Given the description of an element on the screen output the (x, y) to click on. 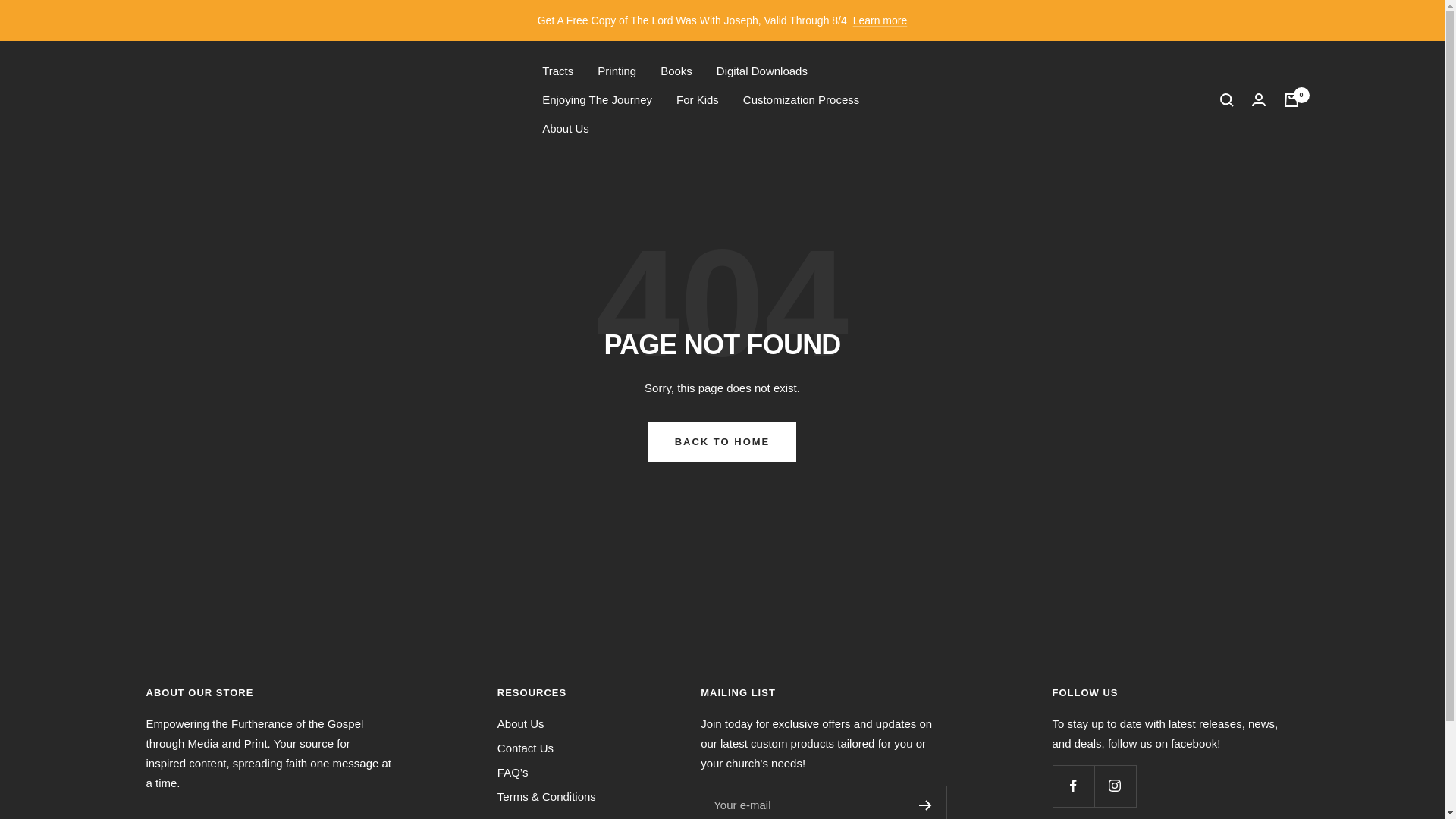
Books (677, 71)
About Us (520, 723)
For Kids (698, 99)
Register (924, 805)
Enjoying The Journey (596, 99)
Tracts (557, 71)
Contact Us (525, 748)
Digital Downloads (762, 71)
Customization Process (800, 99)
0 (1291, 100)
About Us (565, 128)
Printing (616, 71)
Learn more (880, 20)
BACK TO HOME (721, 441)
